Given the description of an element on the screen output the (x, y) to click on. 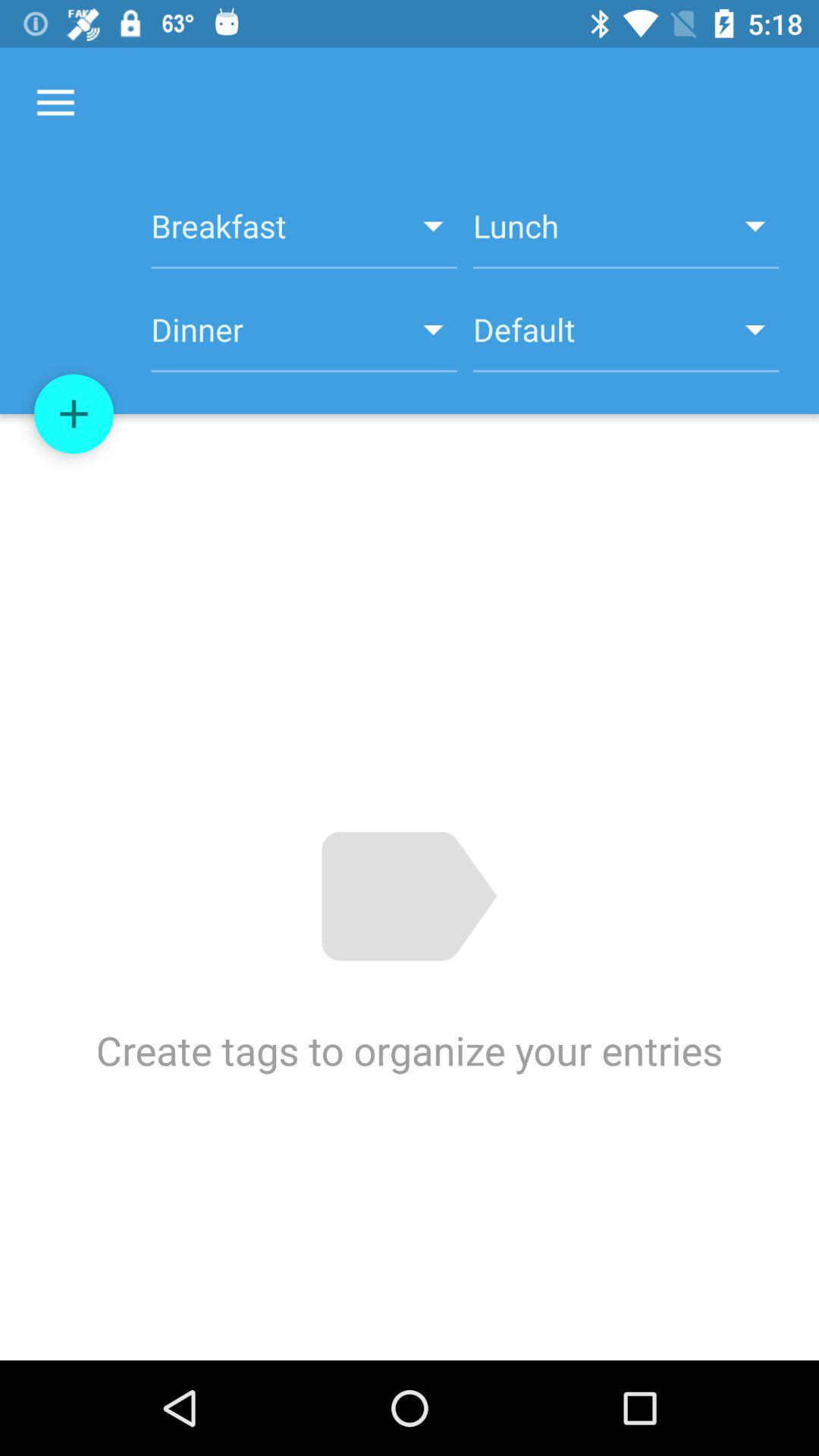
turn off icon to the left of the lunch icon (304, 234)
